Given the description of an element on the screen output the (x, y) to click on. 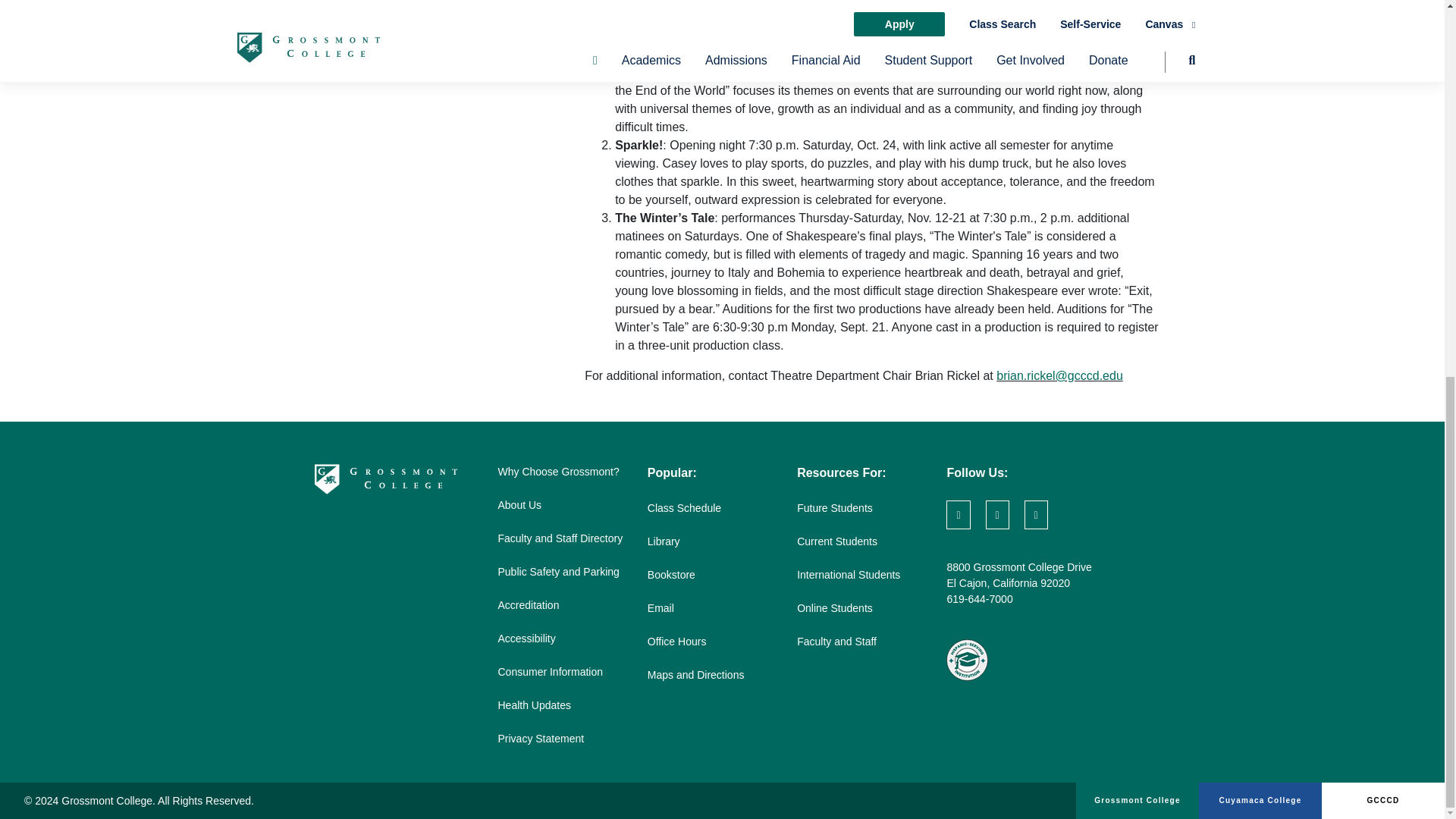
Why Choose Grossmont? (557, 471)
Health Updates (533, 705)
Consumer Information (549, 671)
Accreditation (528, 604)
Accessibility (525, 638)
About Us (519, 504)
Privacy Statement (540, 738)
Faculty and Staff Directory (560, 538)
Future Students (834, 508)
Public Safety and Parking (557, 571)
